Given the description of an element on the screen output the (x, y) to click on. 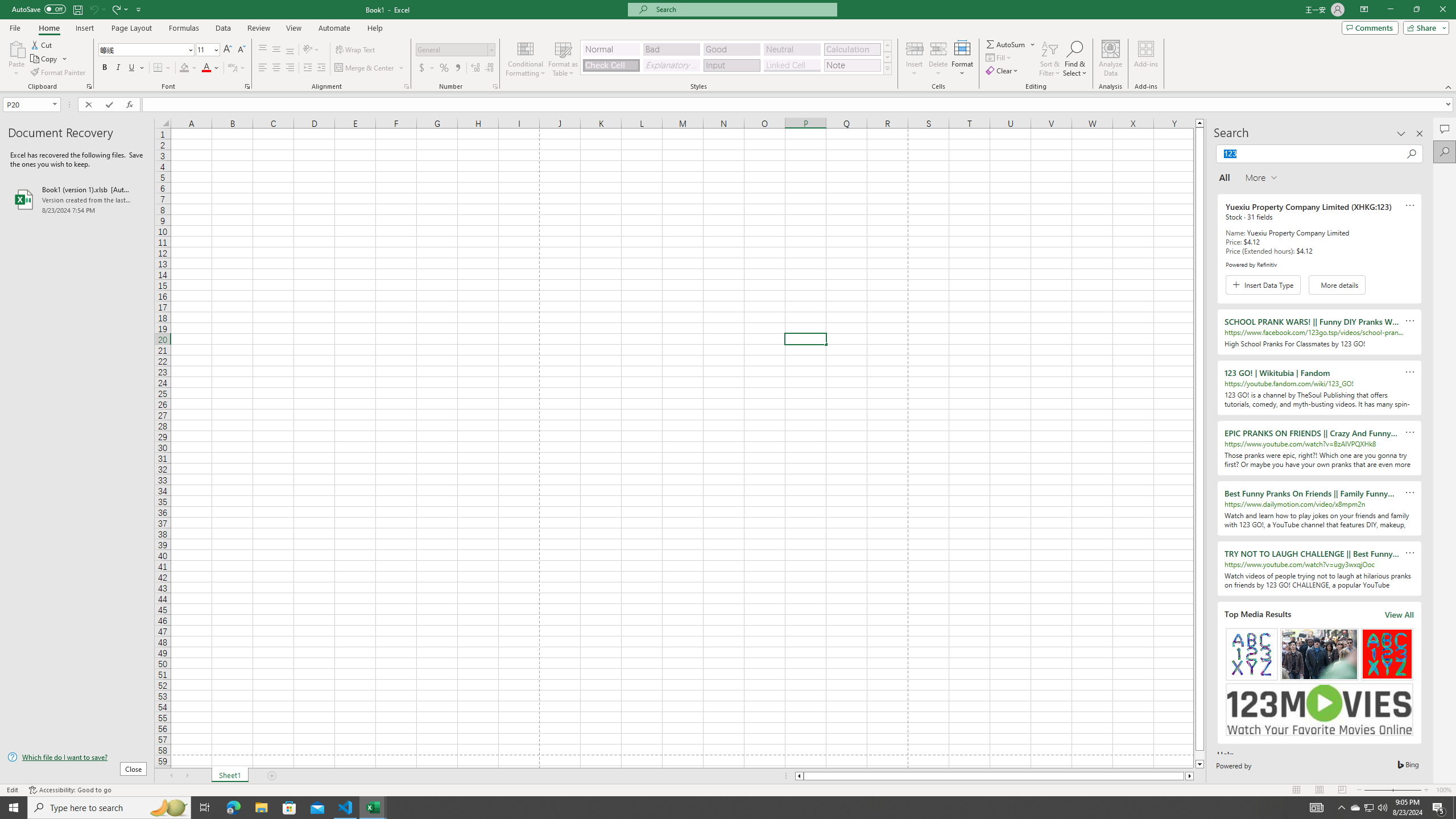
Merge & Center (369, 67)
Sort & Filter (1049, 58)
Increase Font Size (227, 49)
Delete Cells... (938, 48)
Note (852, 65)
Cut (42, 44)
